Given the description of an element on the screen output the (x, y) to click on. 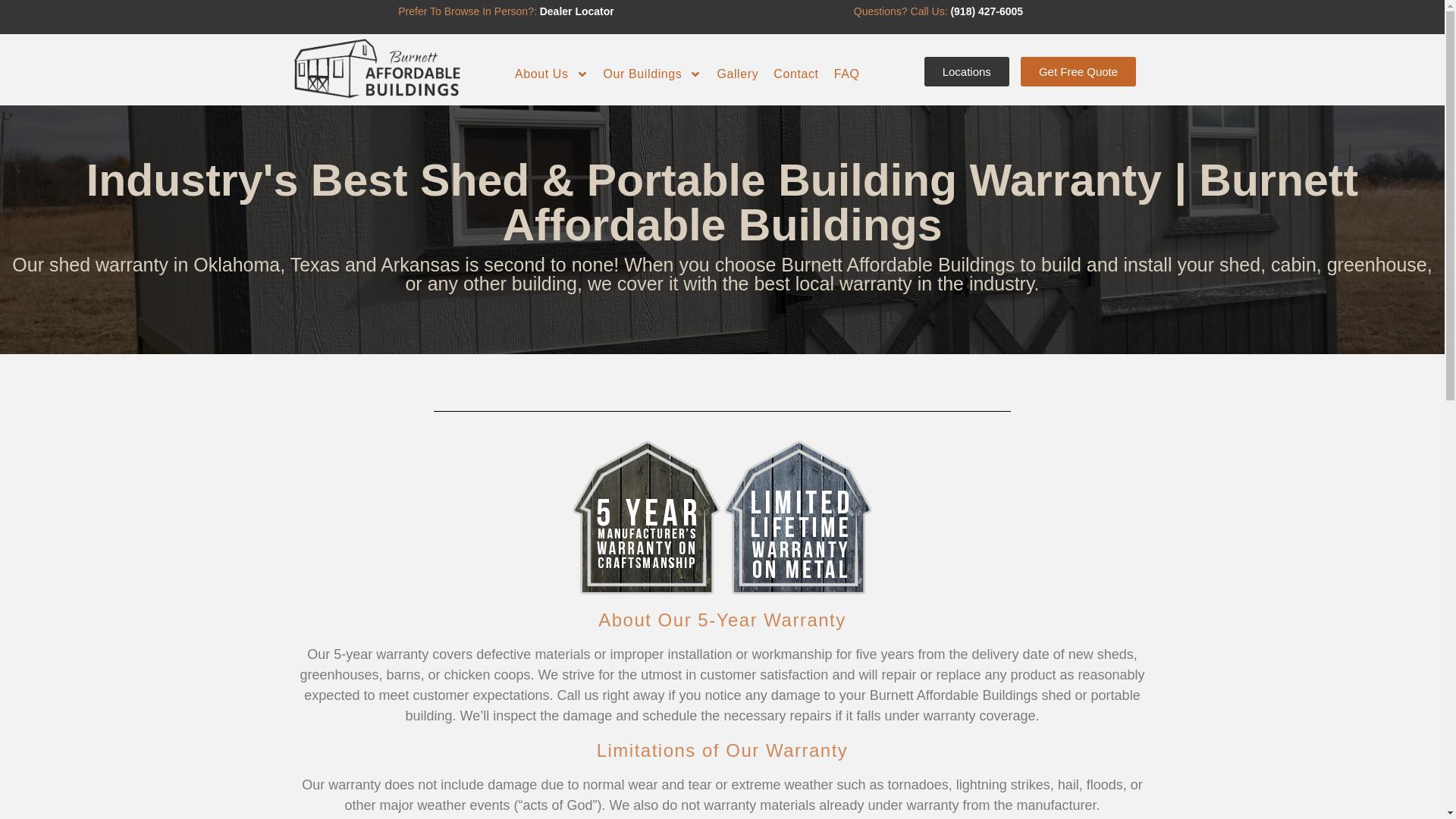
Contact (795, 73)
Gallery (737, 73)
Dealer Locator (577, 10)
About Us (550, 73)
Our Buildings (652, 73)
FAQ (847, 73)
